Given the description of an element on the screen output the (x, y) to click on. 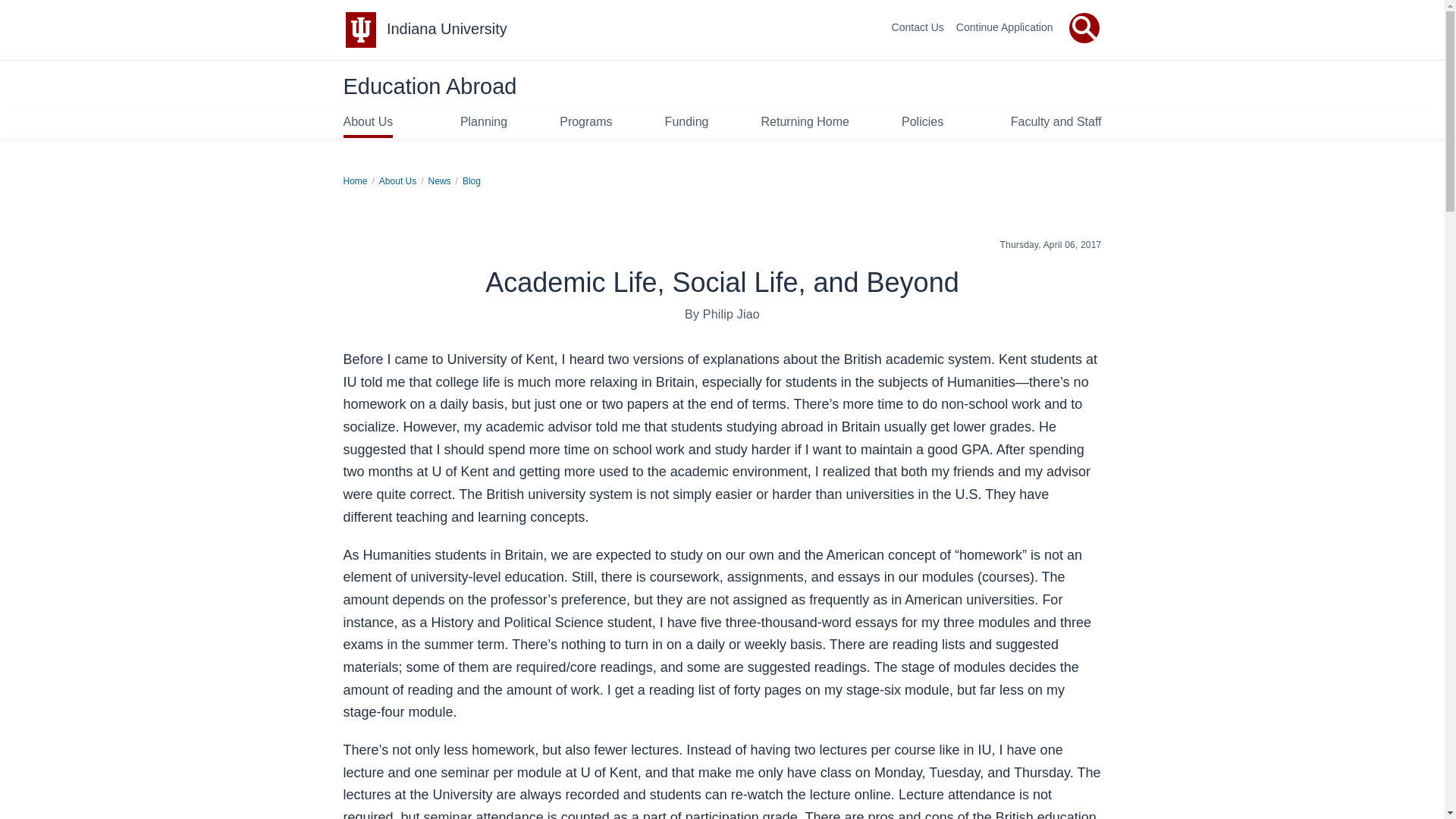
Indiana University (446, 28)
Indiana University (446, 28)
